Given the description of an element on the screen output the (x, y) to click on. 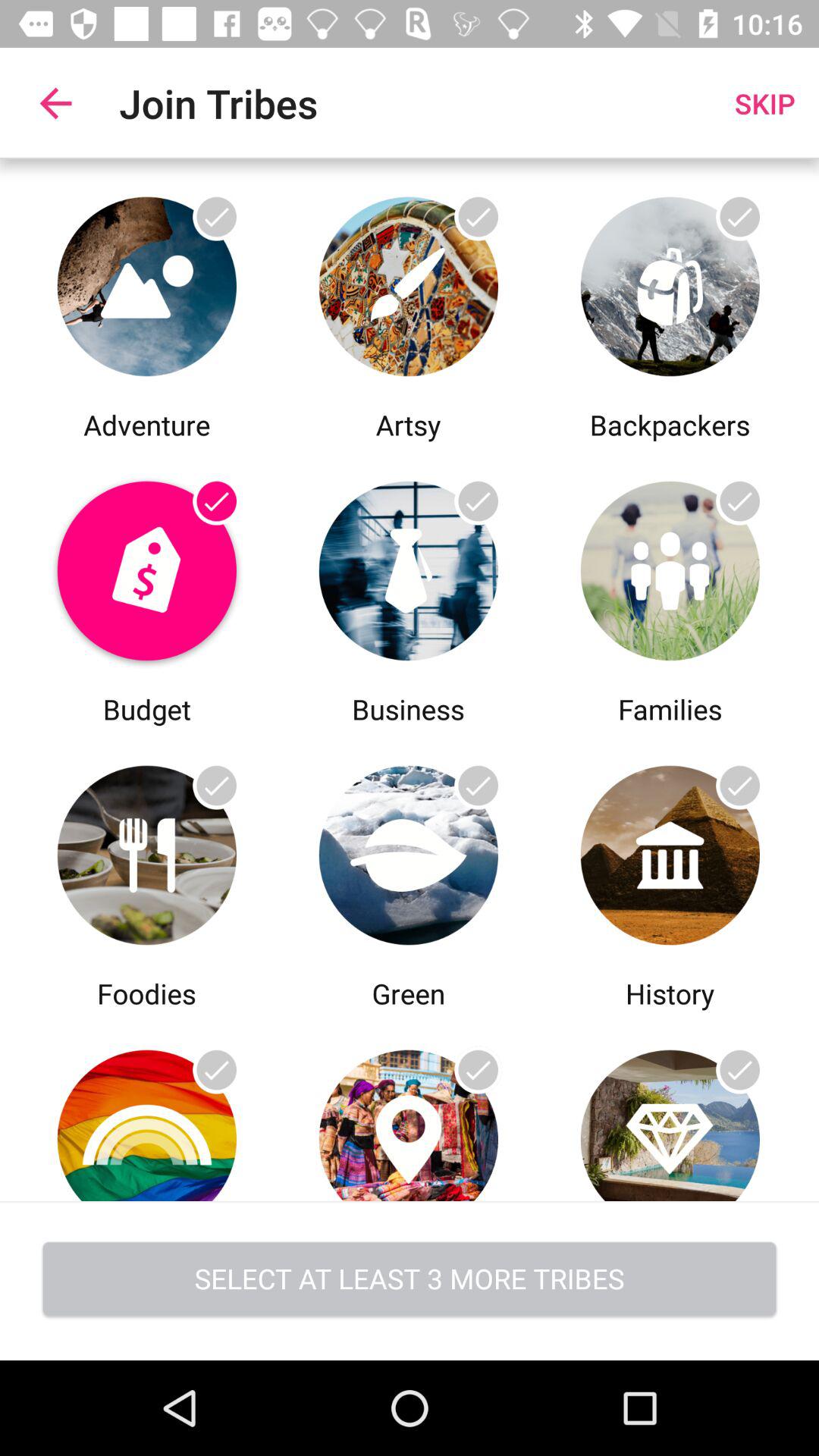
location image (408, 1106)
